Given the description of an element on the screen output the (x, y) to click on. 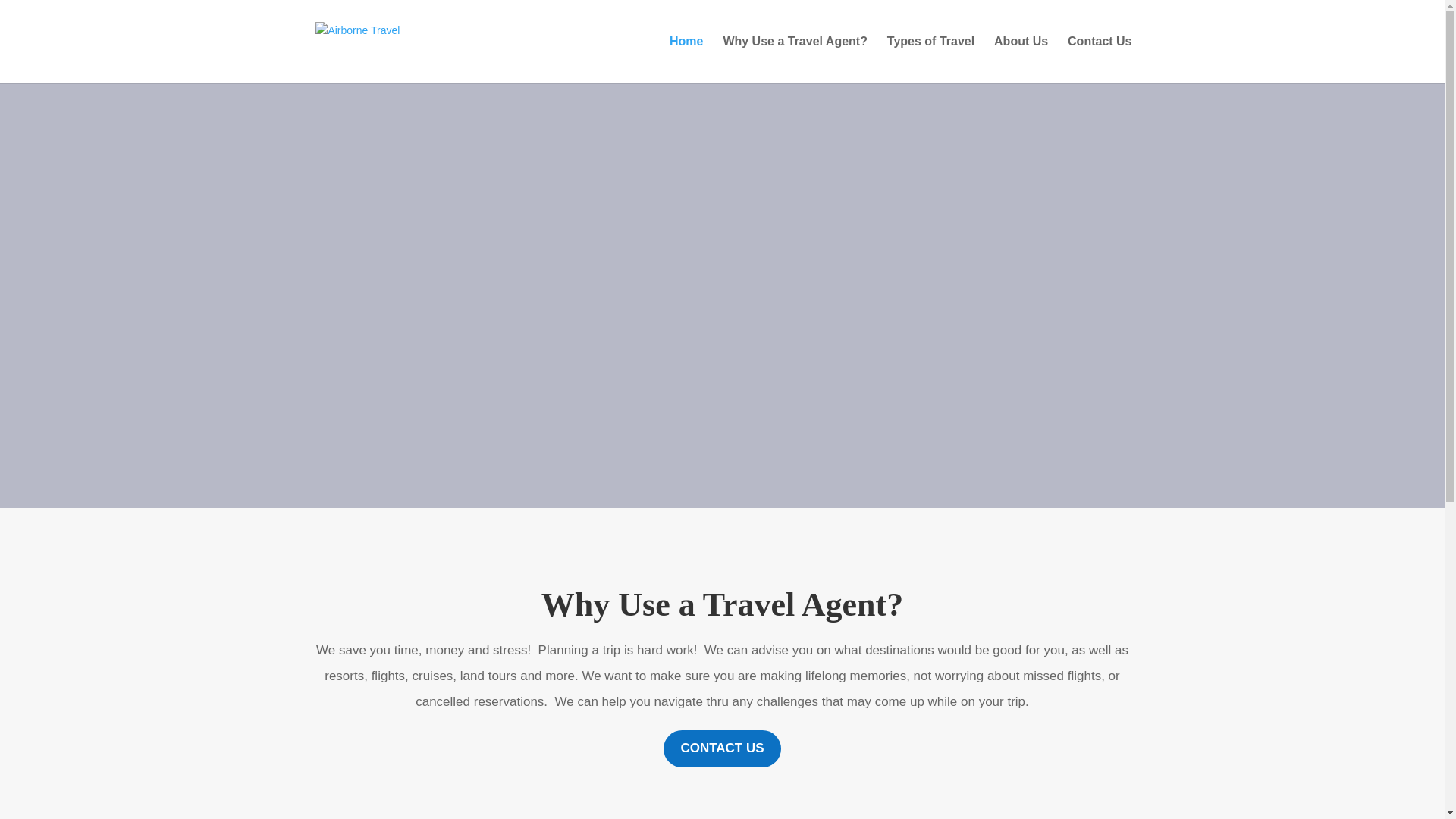
Why Use a Travel Agent? (794, 59)
Home (686, 59)
CONTACT US (721, 748)
Contact Us (1099, 59)
About Us (1021, 59)
Types of Travel (930, 59)
